Given the description of an element on the screen output the (x, y) to click on. 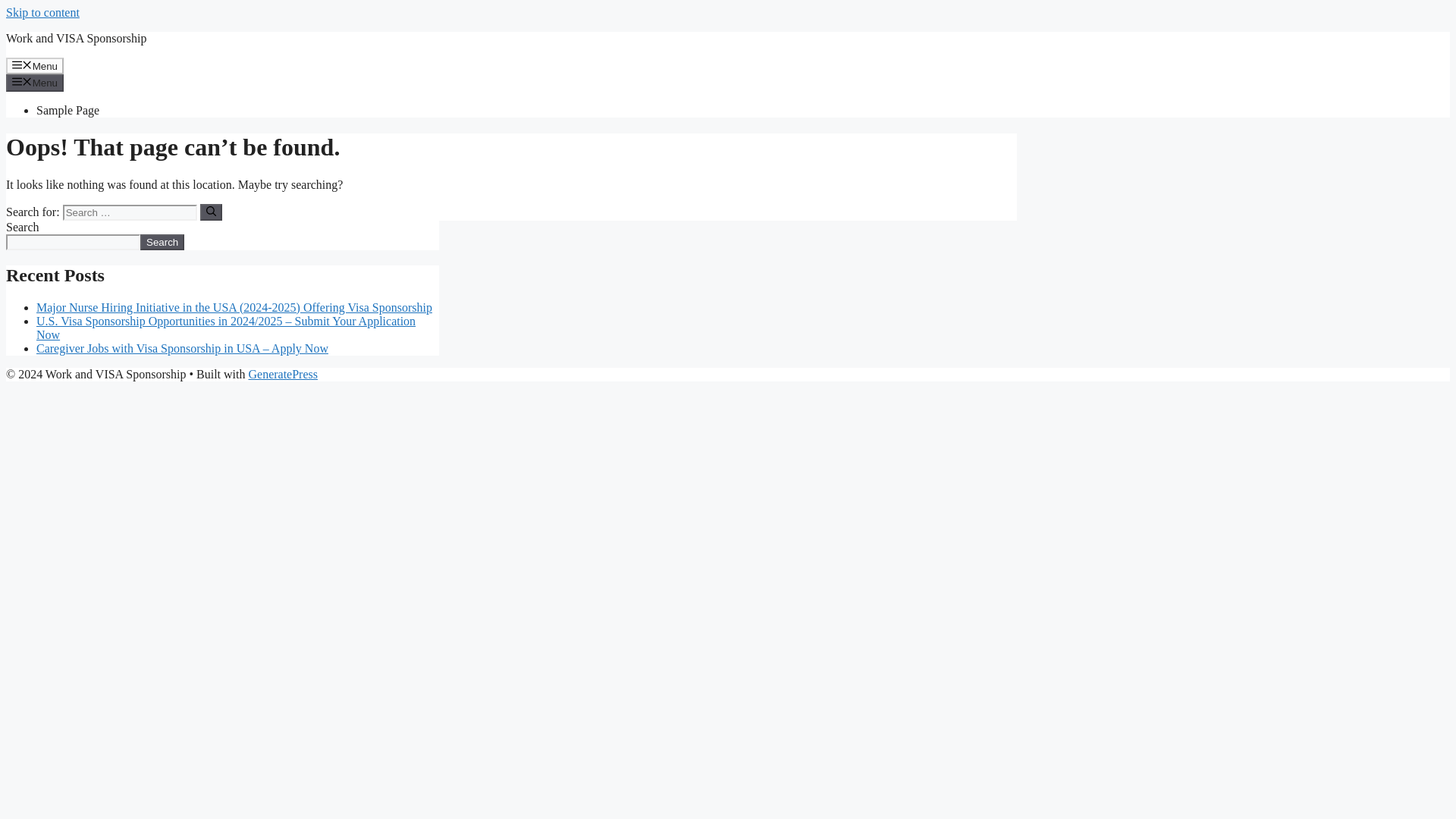
Search (161, 242)
Search for: (129, 212)
Menu (34, 82)
Menu (34, 65)
Sample Page (67, 110)
Work and VISA Sponsorship (76, 38)
Skip to content (42, 11)
Skip to content (42, 11)
